Given the description of an element on the screen output the (x, y) to click on. 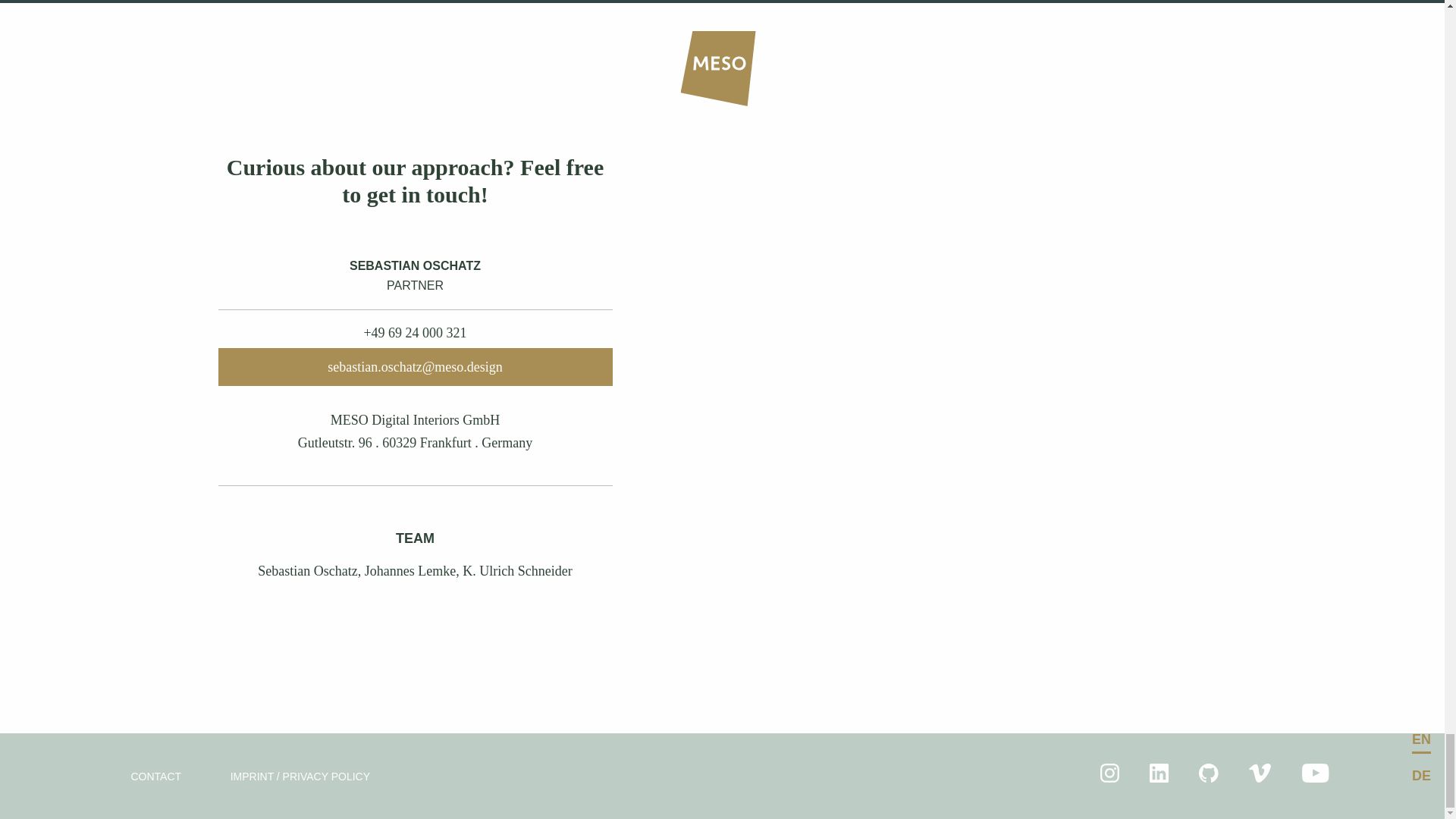
CONTACT (155, 776)
